Given the description of an element on the screen output the (x, y) to click on. 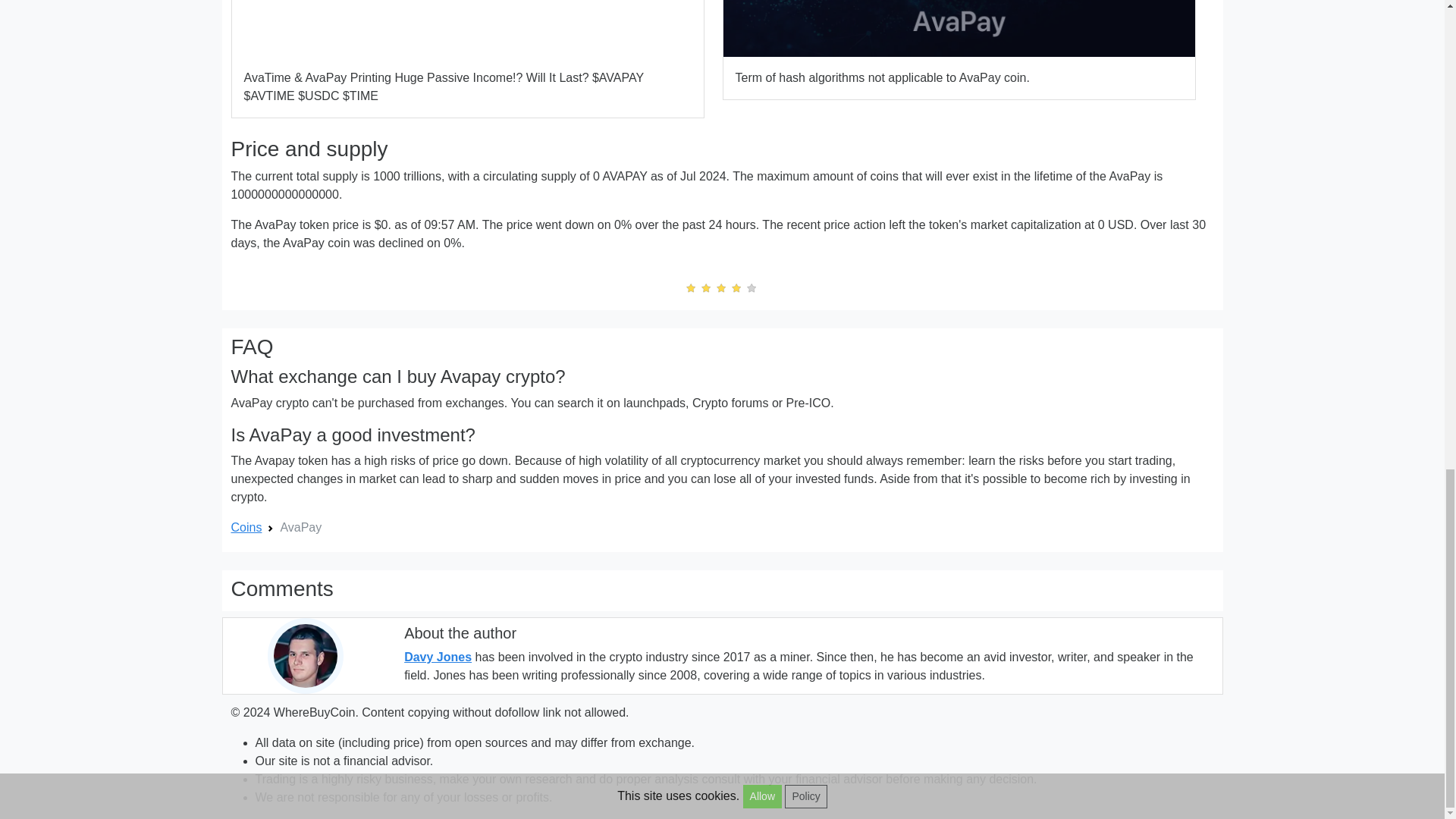
Coins (246, 526)
About Davy Jones (437, 656)
Davy Jones (437, 656)
